Given the description of an element on the screen output the (x, y) to click on. 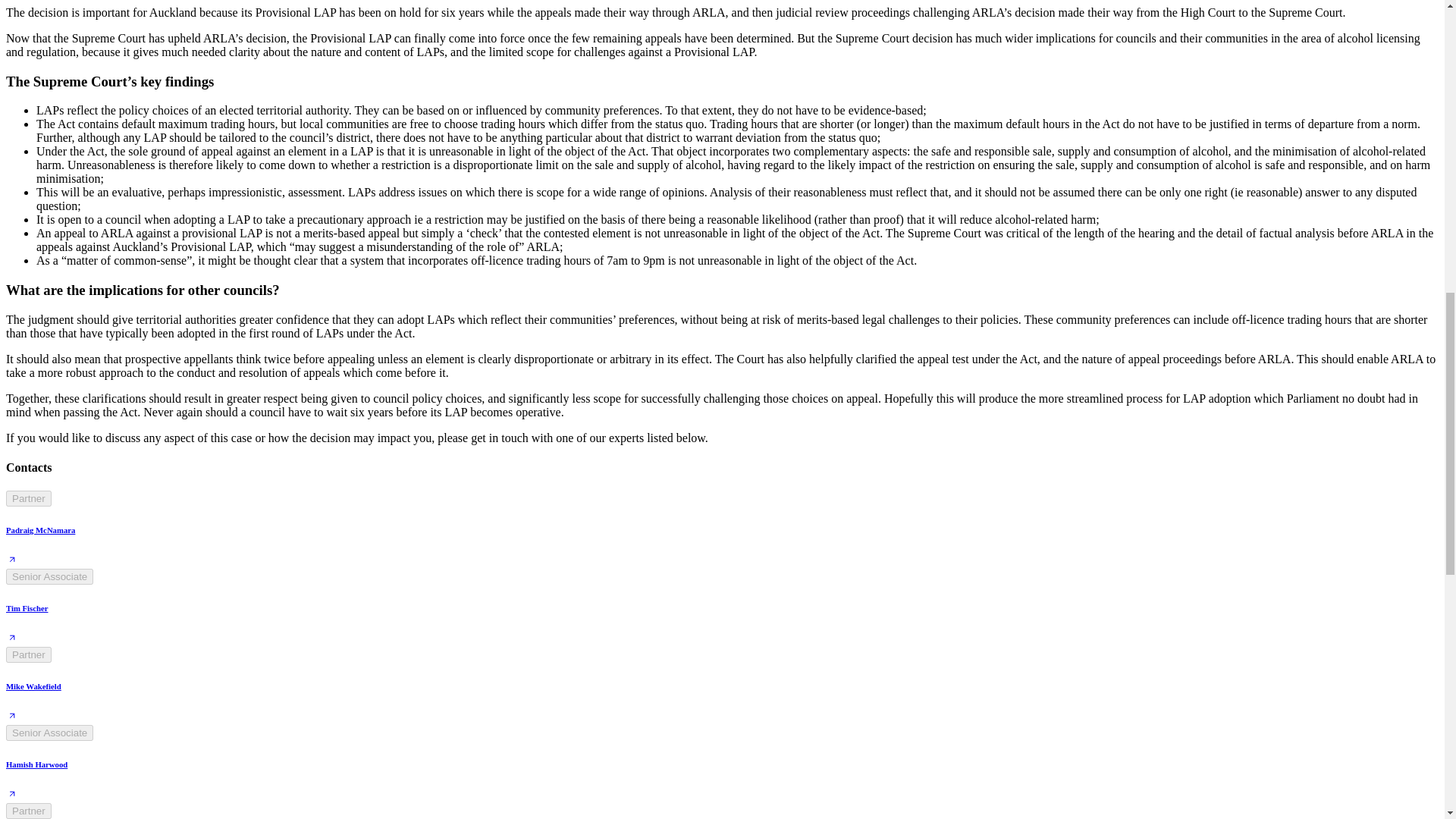
Partner (27, 654)
Senior Associate (49, 576)
Partner (27, 811)
Senior Associate (49, 732)
Partner (27, 498)
